Given the description of an element on the screen output the (x, y) to click on. 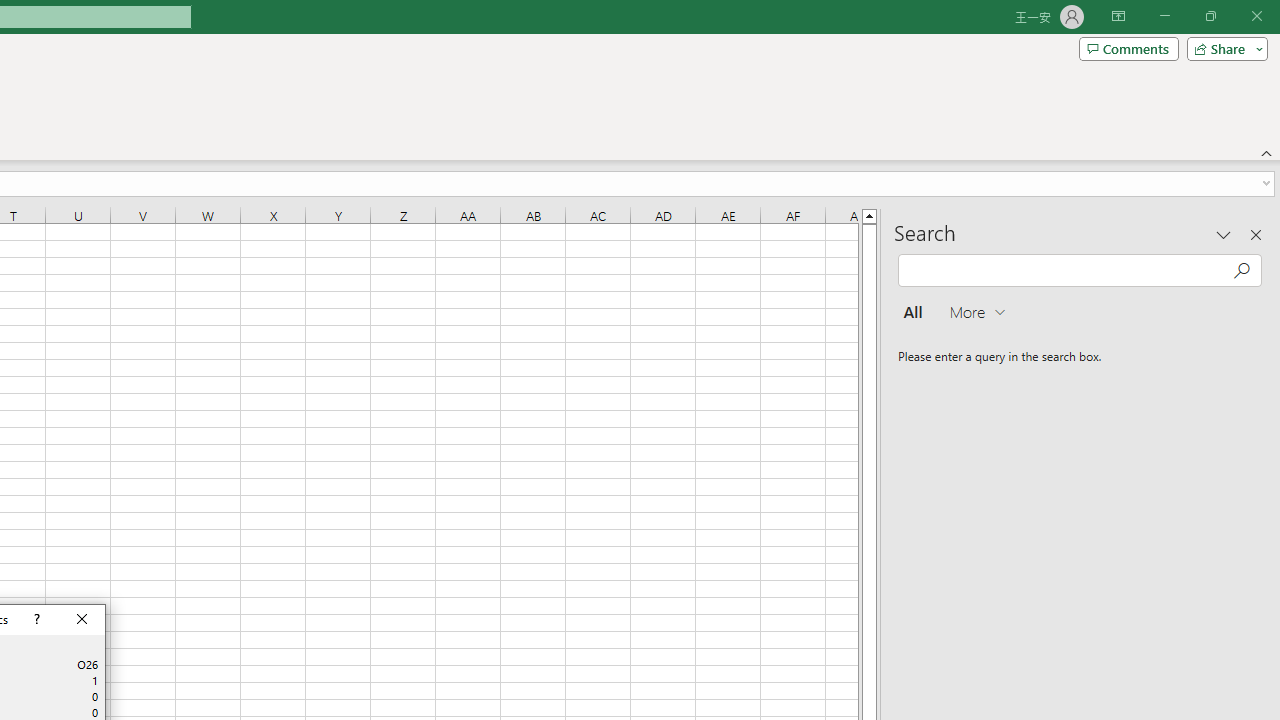
Restore Down (1210, 16)
Task Pane Options (1224, 234)
Line up (869, 215)
Collapse the Ribbon (1267, 152)
Close (82, 619)
Ribbon Display Options (1118, 16)
Minimize (1164, 16)
Context help (34, 619)
Share (1223, 48)
Close pane (1256, 234)
Comments (1128, 48)
